Given the description of an element on the screen output the (x, y) to click on. 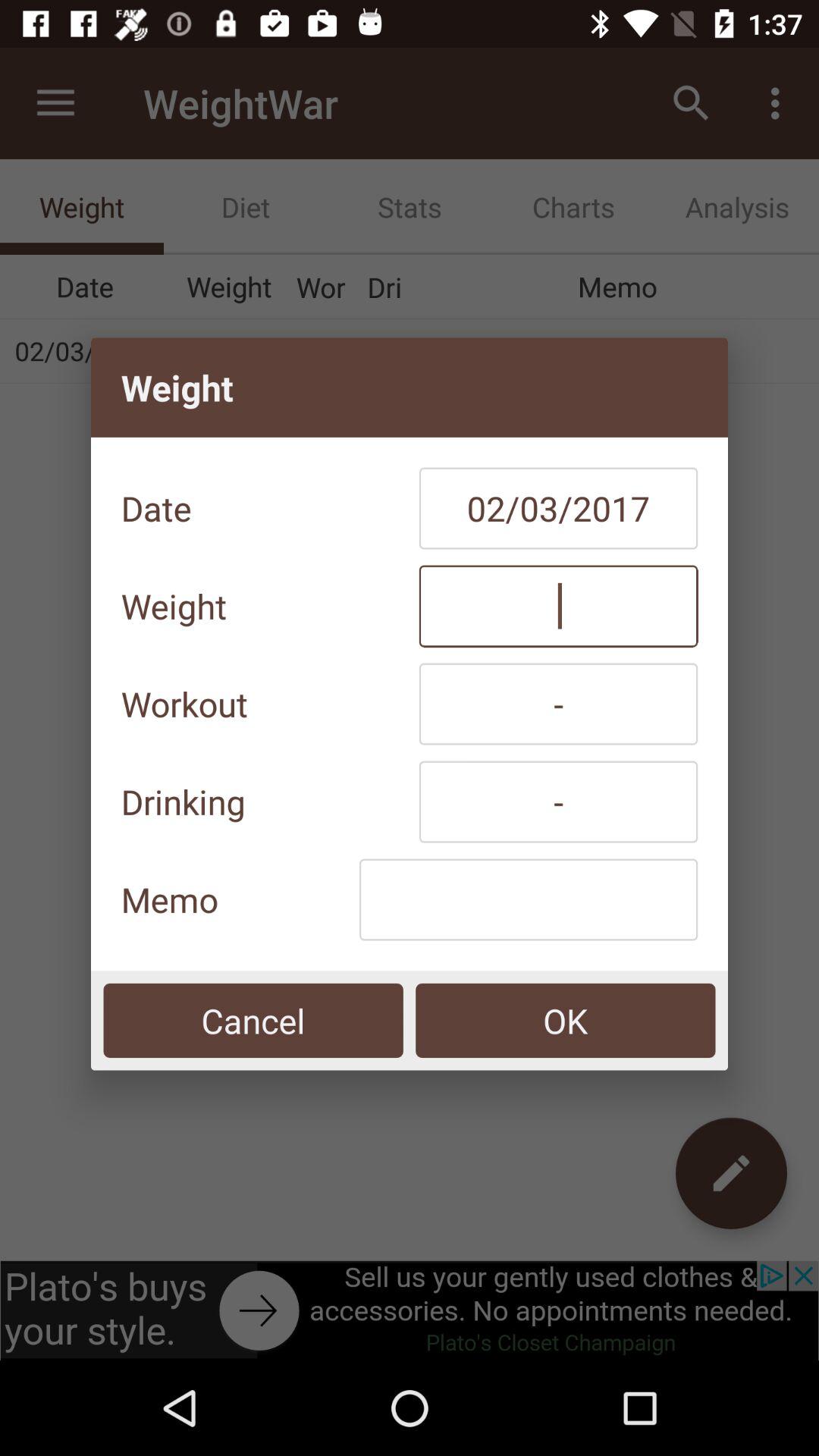
click item above weight icon (558, 508)
